Given the description of an element on the screen output the (x, y) to click on. 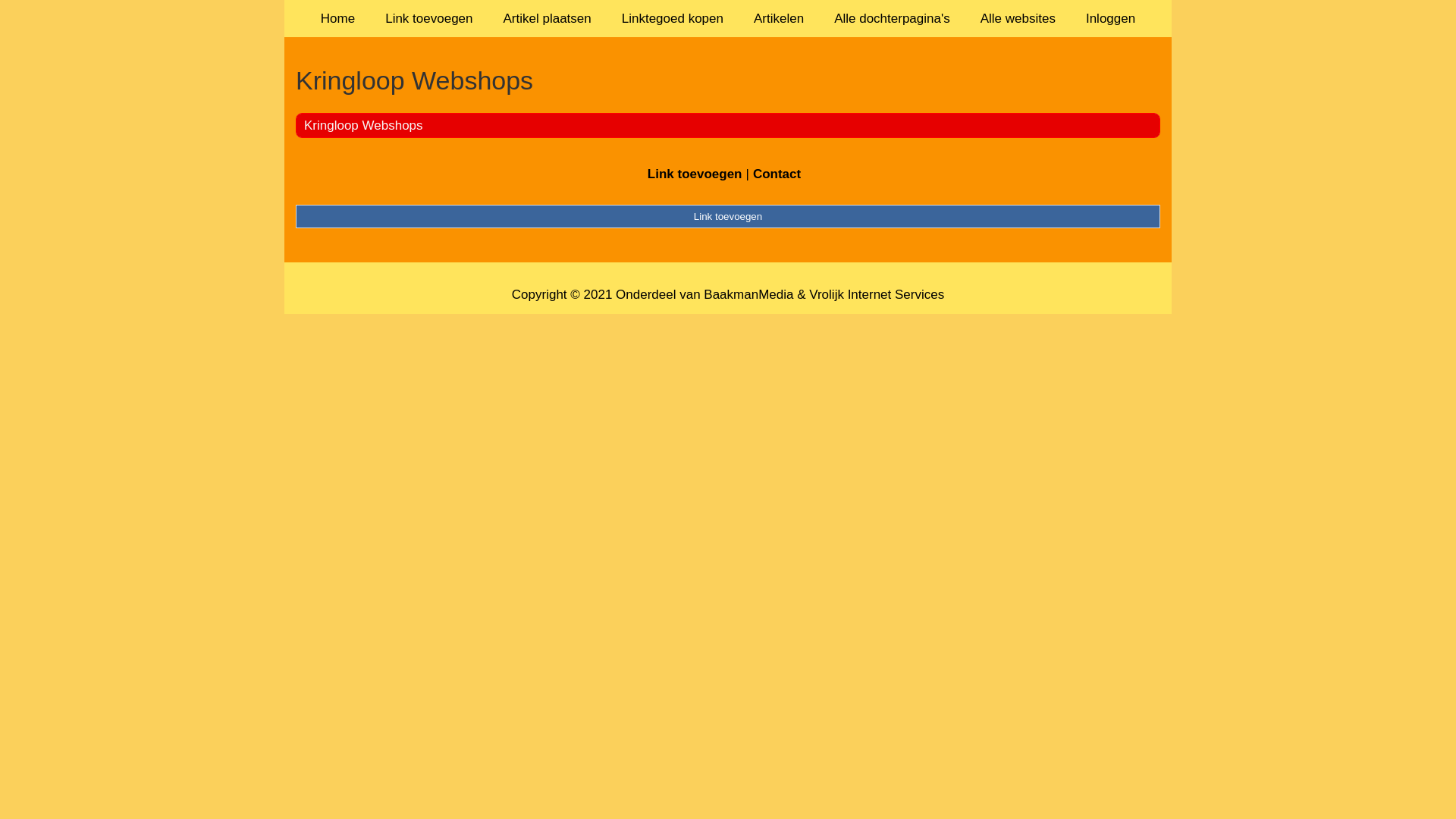
Kringloop Webshops Element type: text (363, 125)
Linktegoed kopen Element type: text (672, 18)
Link toevoegen Element type: text (694, 173)
Inloggen Element type: text (1110, 18)
Artikelen Element type: text (778, 18)
Home Element type: text (337, 18)
Link toevoegen Element type: text (727, 215)
Contact Element type: text (776, 173)
BaakmanMedia Element type: text (748, 294)
Alle dochterpagina's Element type: text (892, 18)
Alle websites Element type: text (1017, 18)
Artikel plaatsen Element type: text (547, 18)
Link toevoegen Element type: text (428, 18)
Vrolijk Internet Services Element type: text (876, 294)
Kringloop Webshops Element type: text (727, 80)
